Given the description of an element on the screen output the (x, y) to click on. 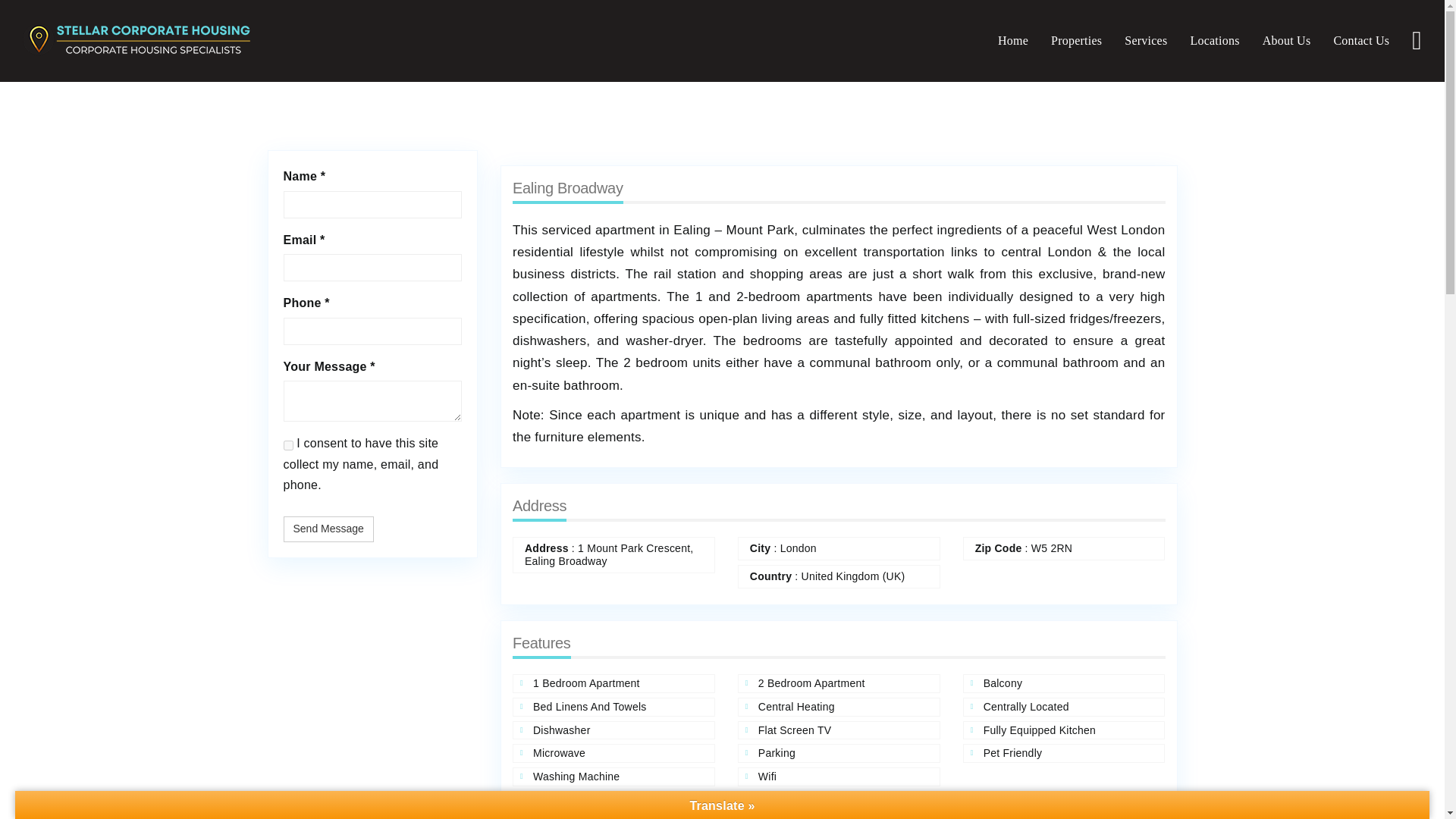
on (288, 445)
Send Message (328, 529)
